Given the description of an element on the screen output the (x, y) to click on. 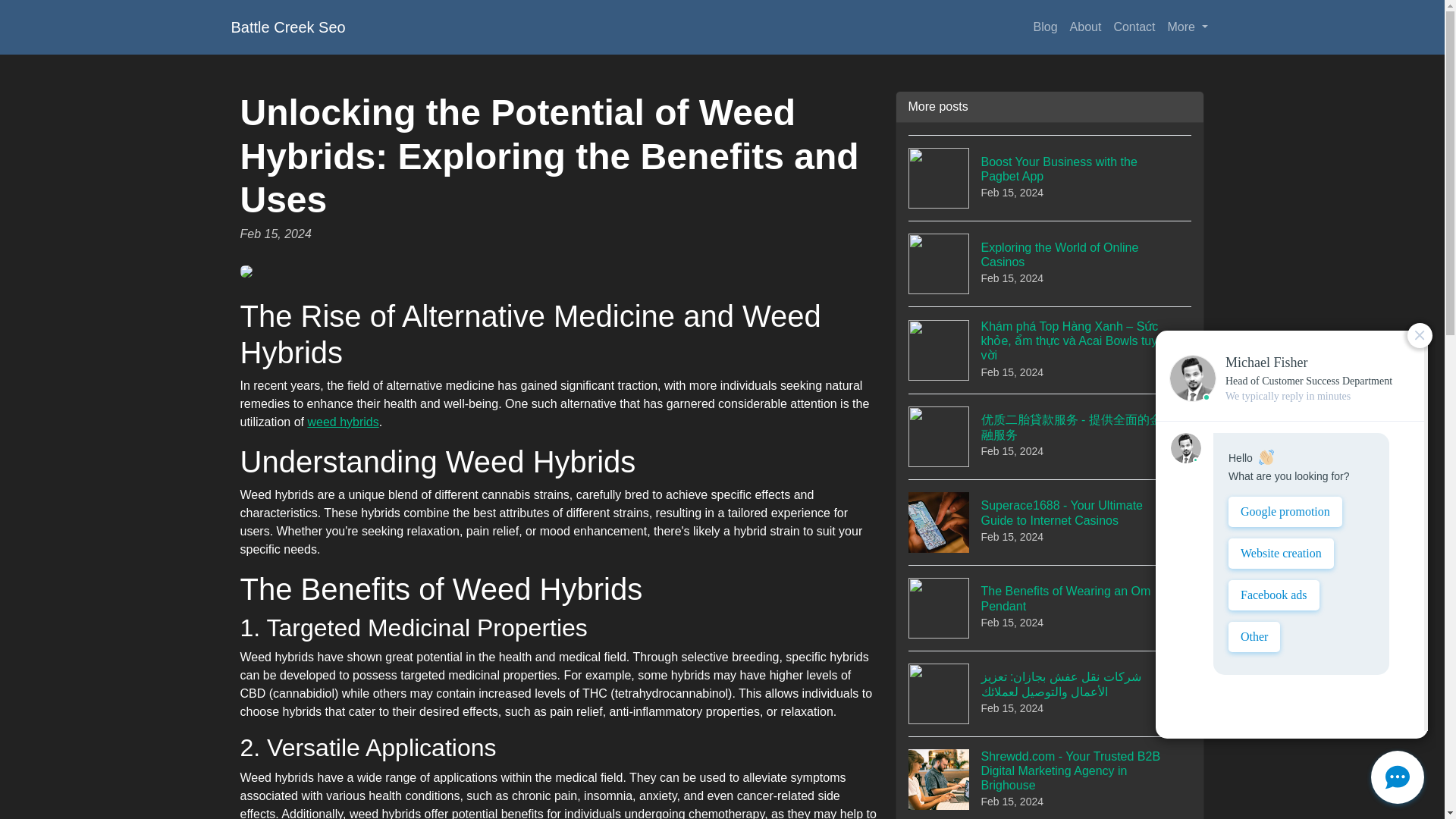
About (1050, 263)
Battle Creek Seo (1086, 27)
weed hybrids (1050, 607)
Contact (287, 27)
More (1050, 177)
Blog (342, 421)
